Given the description of an element on the screen output the (x, y) to click on. 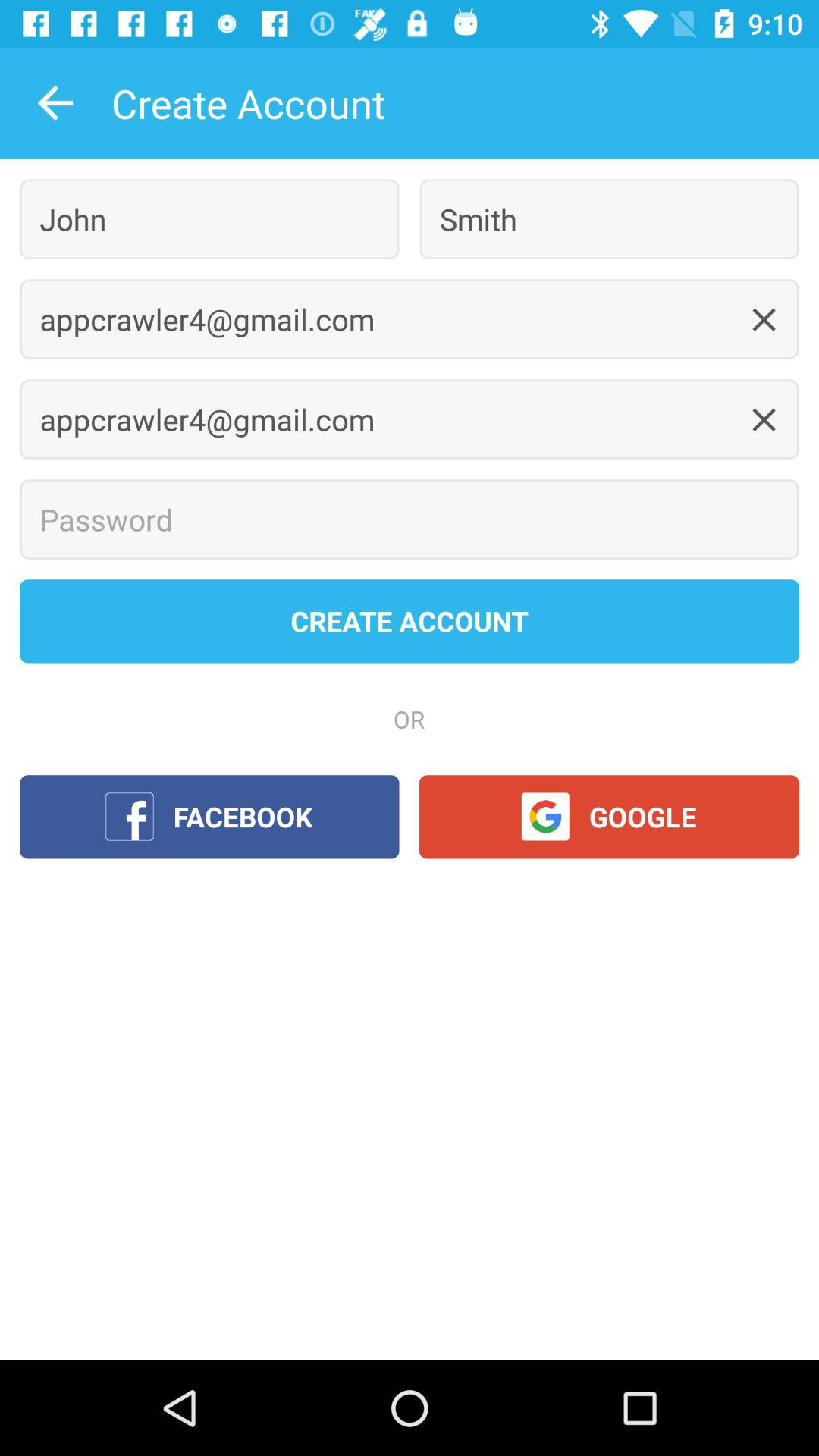
tap smith icon (609, 219)
